Given the description of an element on the screen output the (x, y) to click on. 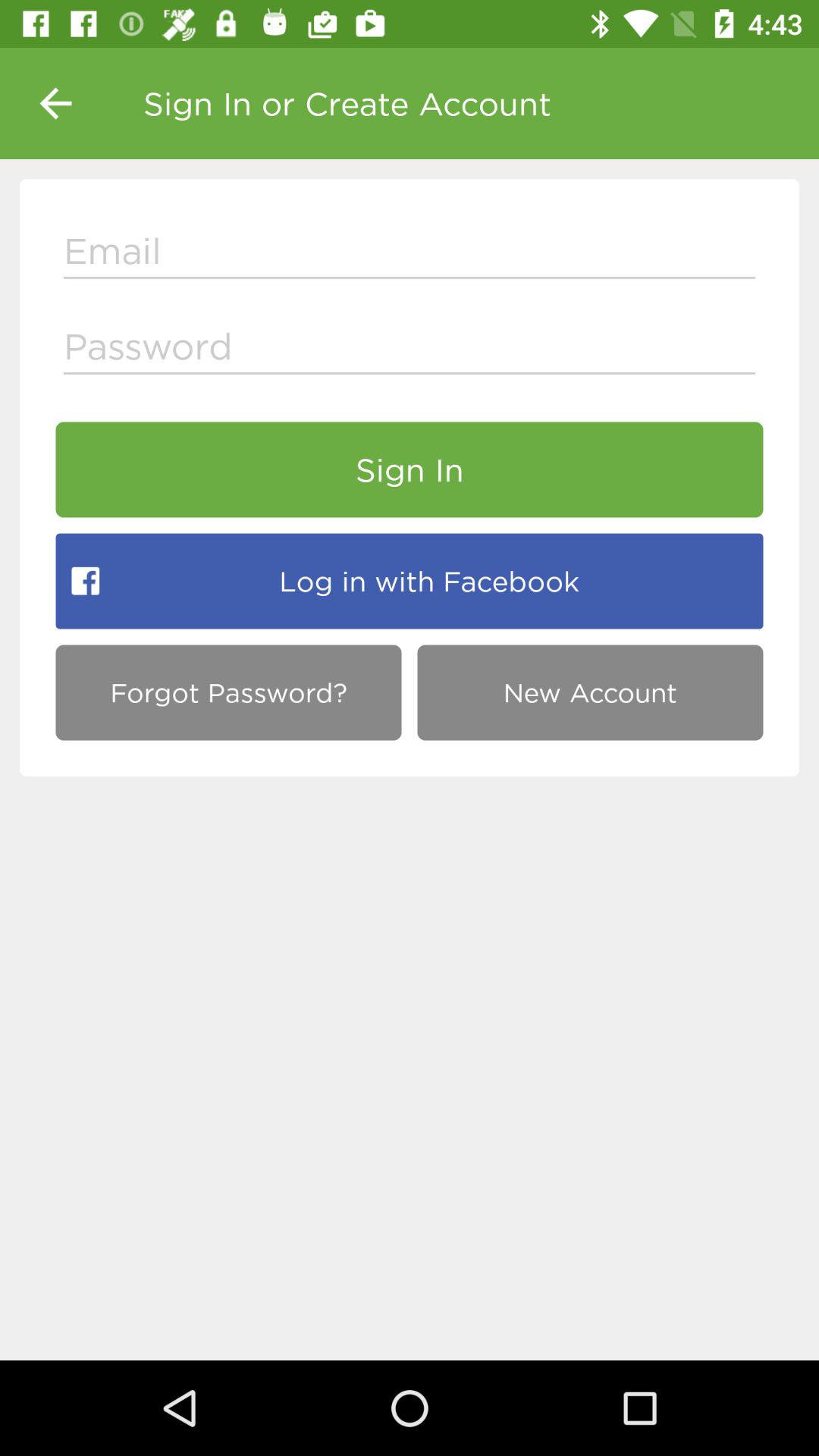
type the password (409, 350)
